Given the description of an element on the screen output the (x, y) to click on. 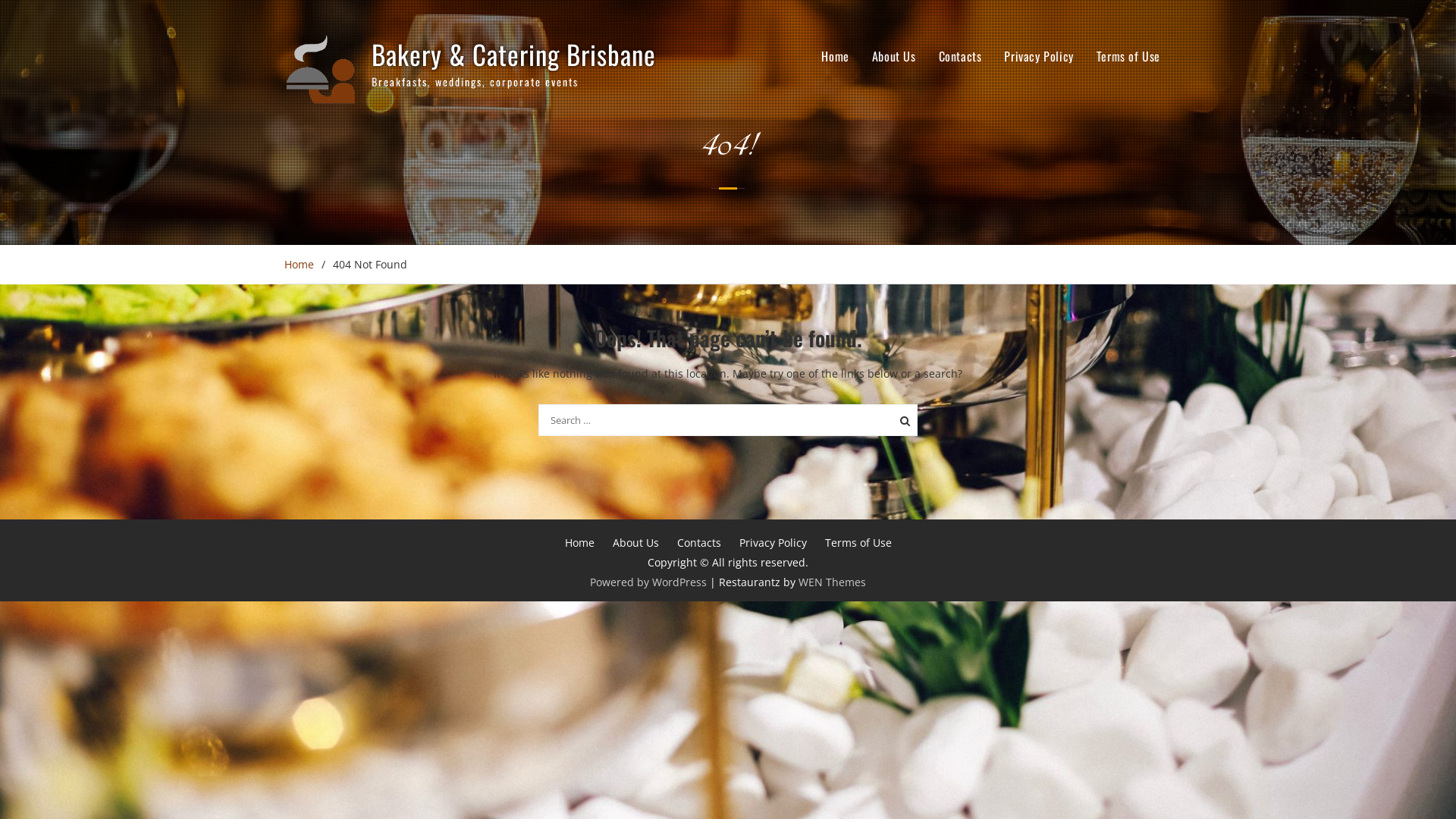
Home Element type: text (834, 55)
Contacts Element type: text (960, 55)
Search Element type: text (902, 419)
WEN Themes Element type: text (832, 581)
Terms of Use Element type: text (1127, 55)
Home Element type: text (298, 263)
Powered by WordPress Element type: text (647, 581)
Home Element type: text (578, 542)
About Us Element type: text (635, 542)
About Us Element type: text (893, 55)
Privacy Policy Element type: text (772, 542)
Terms of Use Element type: text (858, 542)
Bakery & Catering Brisbane Element type: text (513, 53)
Contacts Element type: text (698, 542)
Privacy Policy Element type: text (1038, 55)
